Given the description of an element on the screen output the (x, y) to click on. 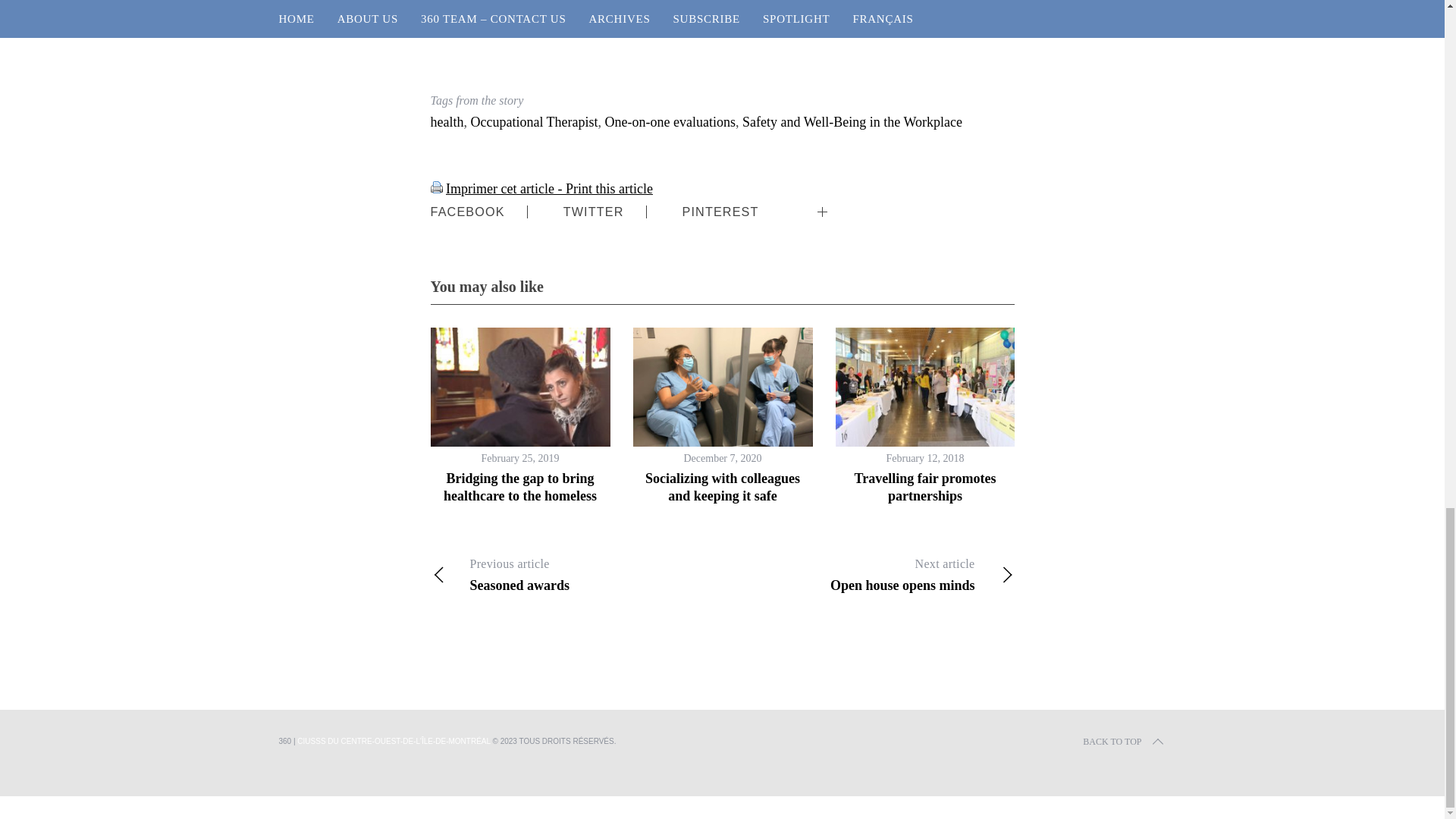
LINKEDIN (866, 199)
FACEBOOK (467, 211)
Imprimer cet article - Print this article (436, 186)
PINTEREST (720, 211)
Occupational Therapist (533, 121)
Socializing with colleagues and keeping it safe (867, 574)
Imprimer cet article - Print this article (722, 486)
One-on-one evaluations (548, 188)
Bridging the gap to bring healthcare to the homeless (670, 121)
